Given the description of an element on the screen output the (x, y) to click on. 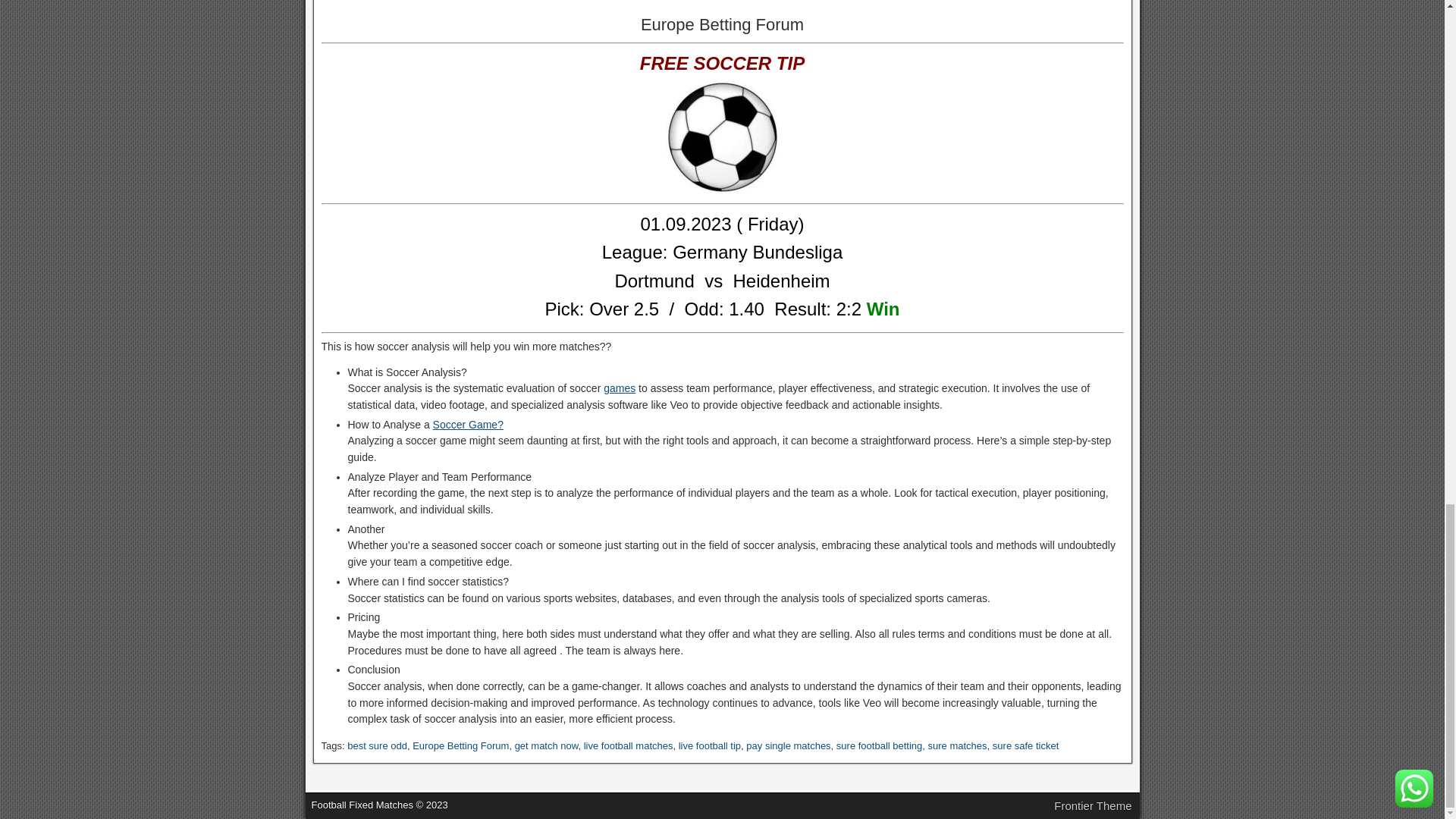
pay single matches (787, 745)
Europe Betting Forum (460, 745)
get match now (546, 745)
sure matches (957, 745)
Soccer Game? (467, 424)
live football tip (709, 745)
Parva liga (721, 308)
Parva liga (721, 281)
live football matches (627, 745)
games (619, 387)
best sure odd (377, 745)
sure football betting (878, 745)
